Given the description of an element on the screen output the (x, y) to click on. 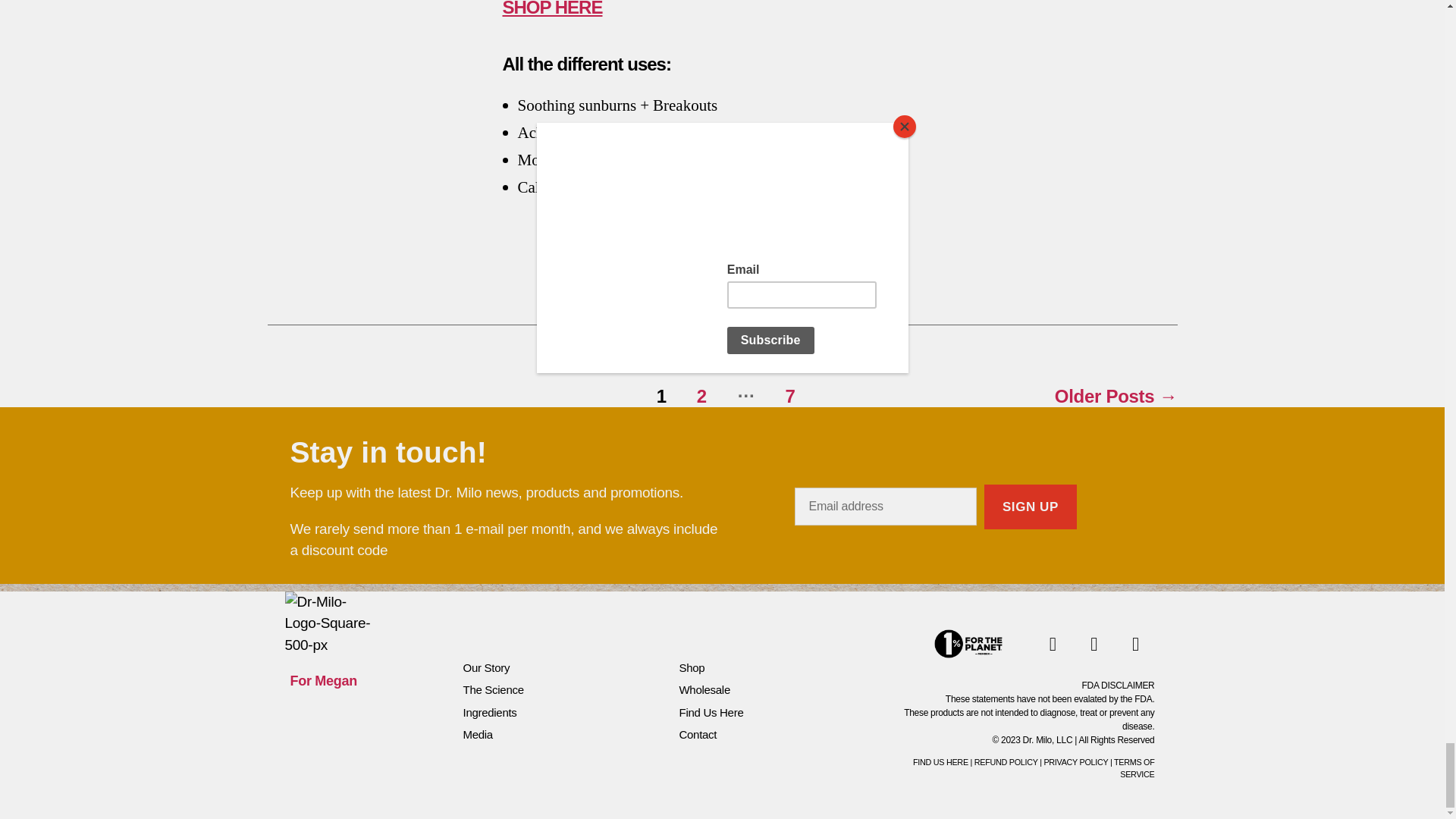
Sign up (1030, 506)
Dr-Milo-Logo-Square-500-px (332, 623)
